Given the description of an element on the screen output the (x, y) to click on. 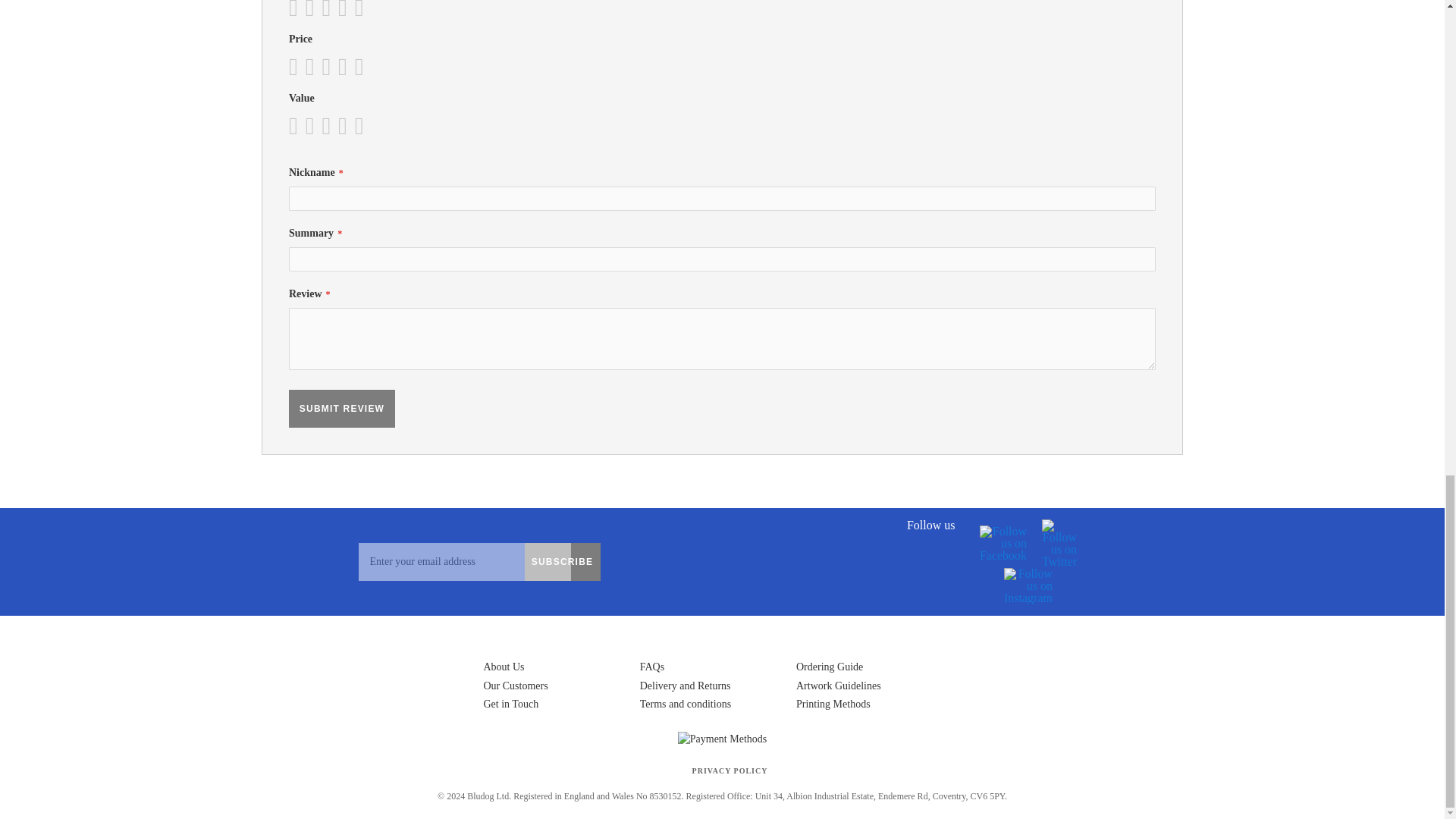
5 stars (329, 9)
4 stars (321, 9)
3 stars (312, 66)
2 stars (304, 125)
